Given the description of an element on the screen output the (x, y) to click on. 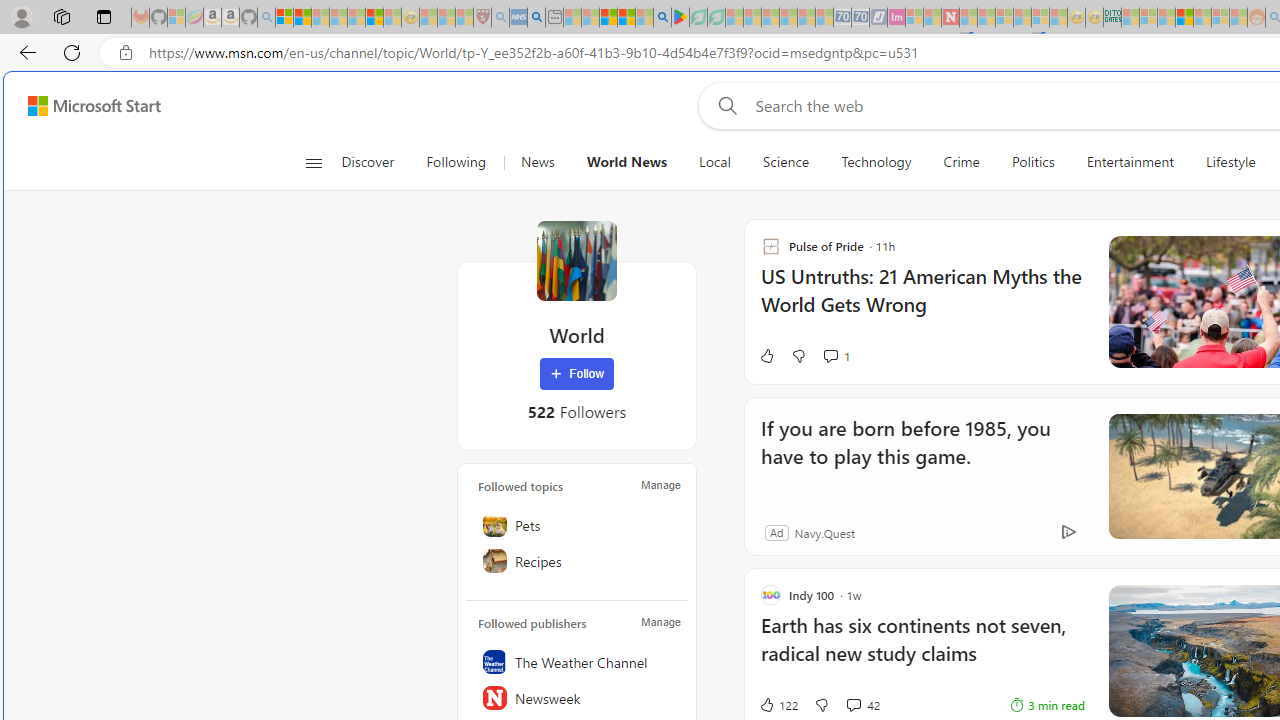
The Weather Channel (577, 661)
